Given the description of an element on the screen output the (x, y) to click on. 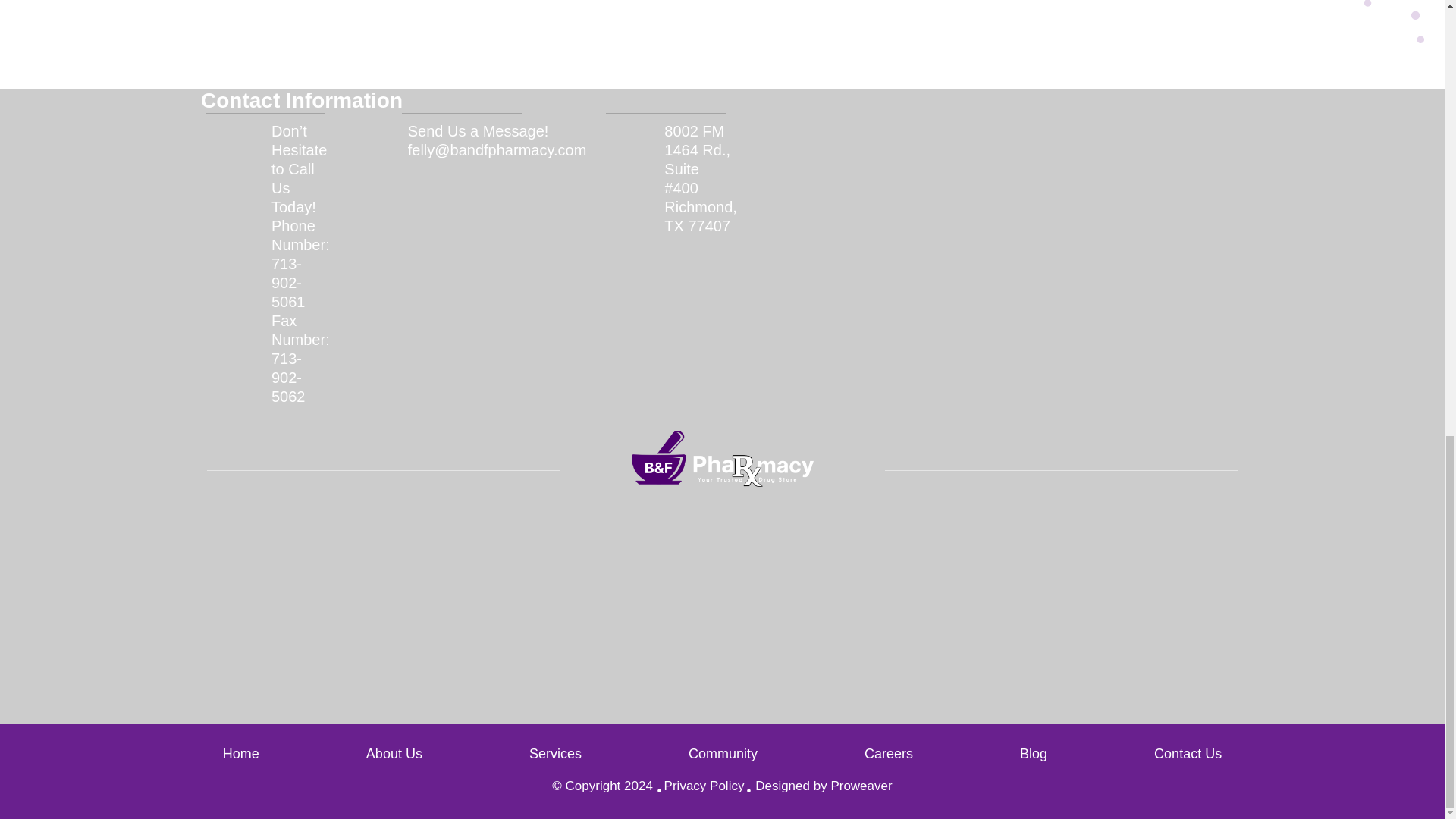
Careers (887, 753)
Blog (1033, 753)
Services (555, 753)
Community (723, 753)
About Us (394, 753)
713-902-5061 (300, 329)
Proweaver (860, 785)
Privacy Policy (703, 785)
Home (266, 753)
Contact Us (1161, 753)
